Given the description of an element on the screen output the (x, y) to click on. 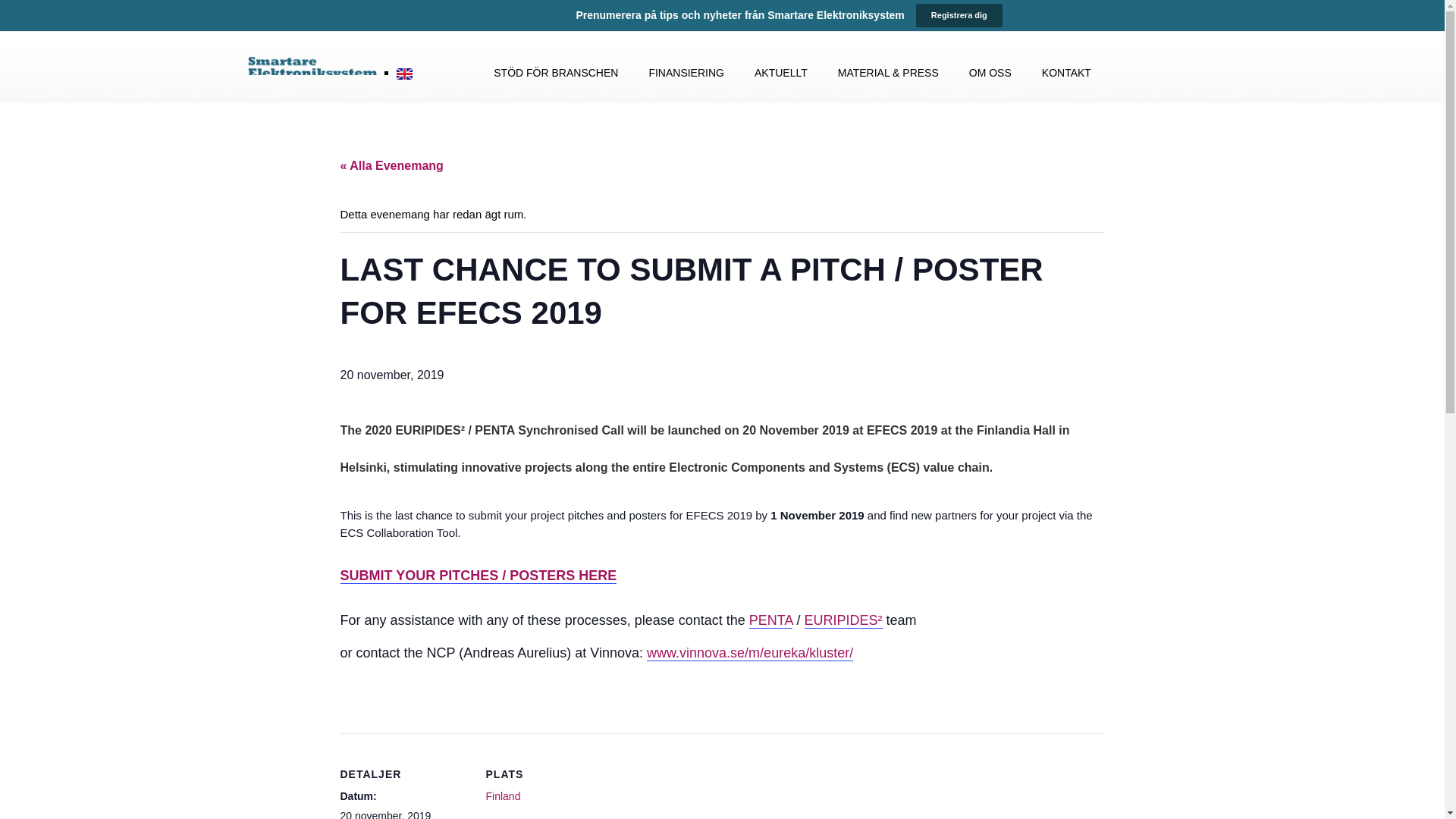
FINANSIERING (686, 72)
AKTUELLT (780, 72)
2019-11-20 (384, 814)
OM OSS (989, 72)
Registrera dig (959, 15)
KONTAKT (1066, 72)
